Given the description of an element on the screen output the (x, y) to click on. 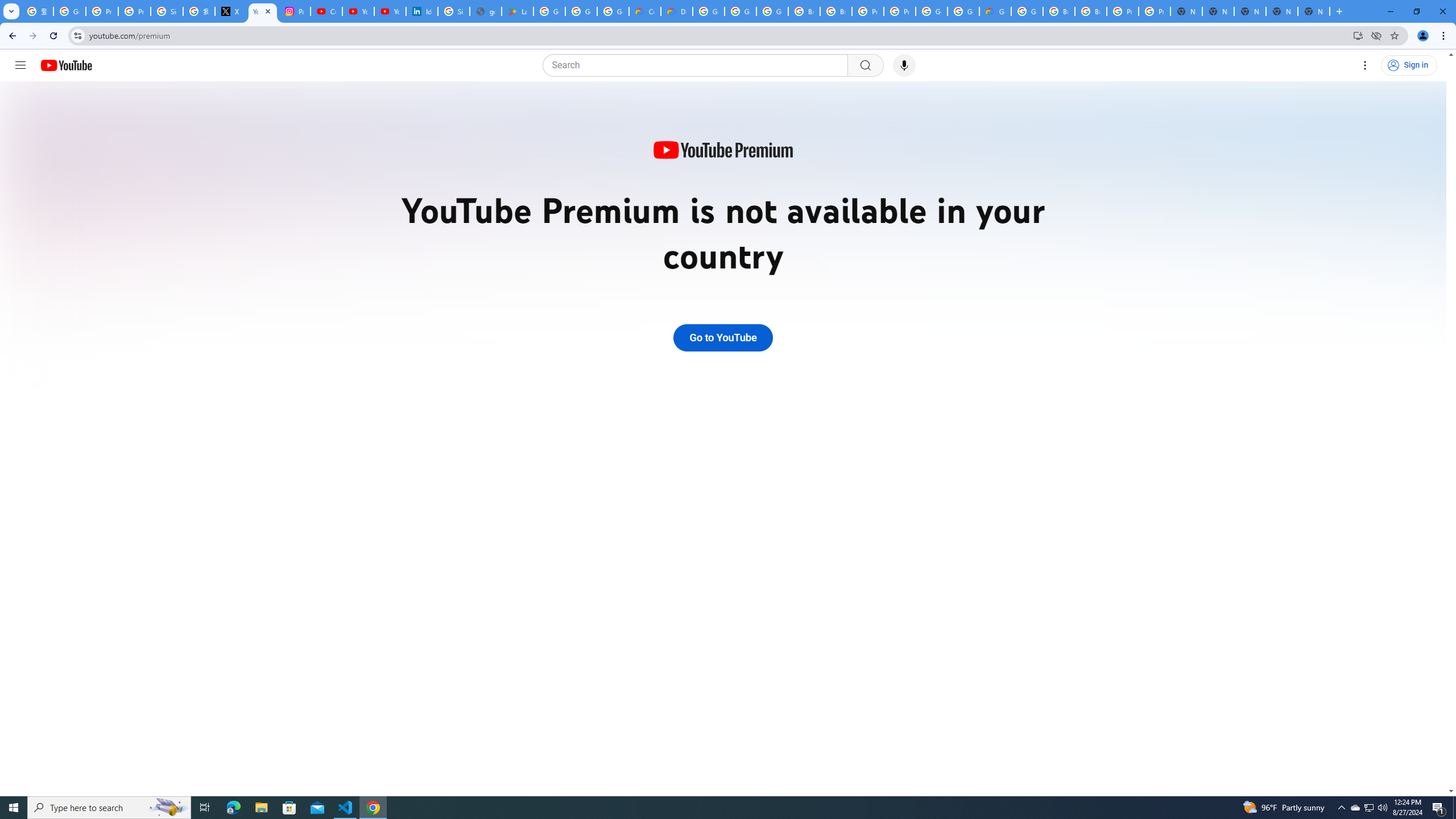
Browse Chrome as a guest - Computer - Google Chrome Help (804, 11)
